Given the description of an element on the screen output the (x, y) to click on. 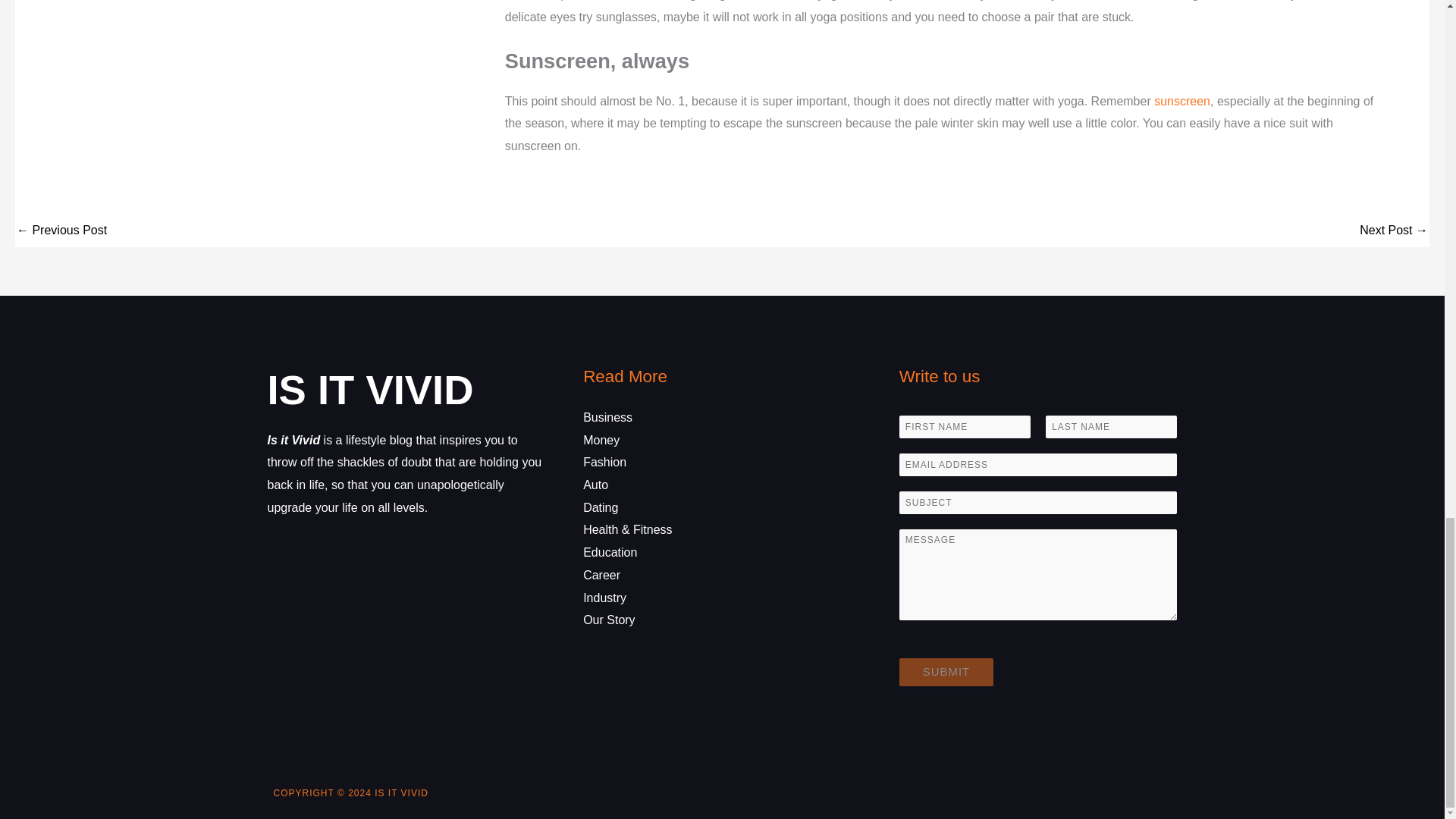
Industry (604, 597)
Fashion (604, 461)
Our Story (608, 619)
Dating (600, 507)
Education (610, 552)
Business (607, 417)
Career (601, 574)
SUBMIT (945, 672)
sunscreen (1181, 101)
